Given the description of an element on the screen output the (x, y) to click on. 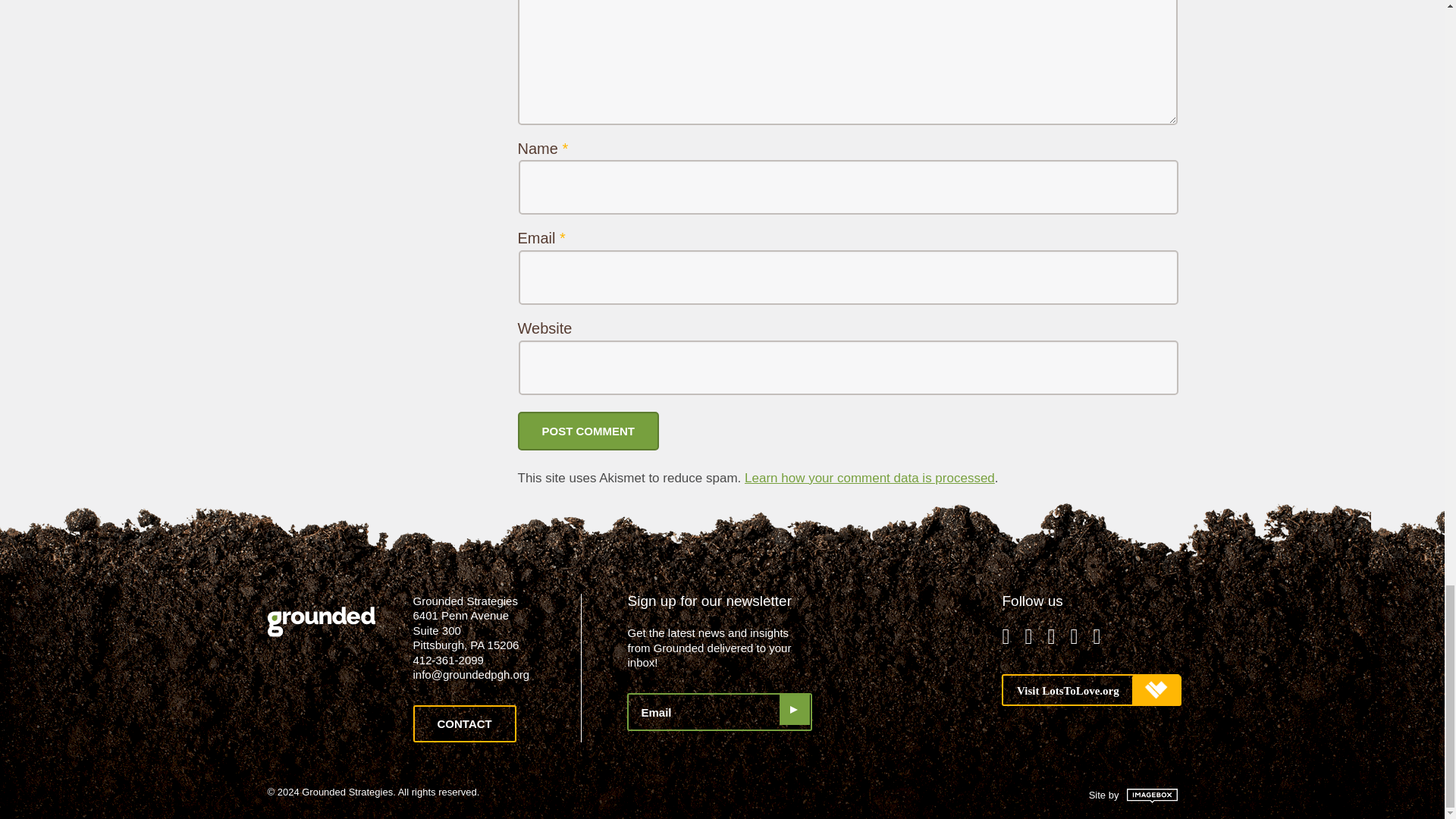
Post Comment (587, 430)
Phipps Sustainable Landcare Accredited (906, 647)
GO (793, 709)
Visit LotsToLove.org (1090, 689)
